Given the description of an element on the screen output the (x, y) to click on. 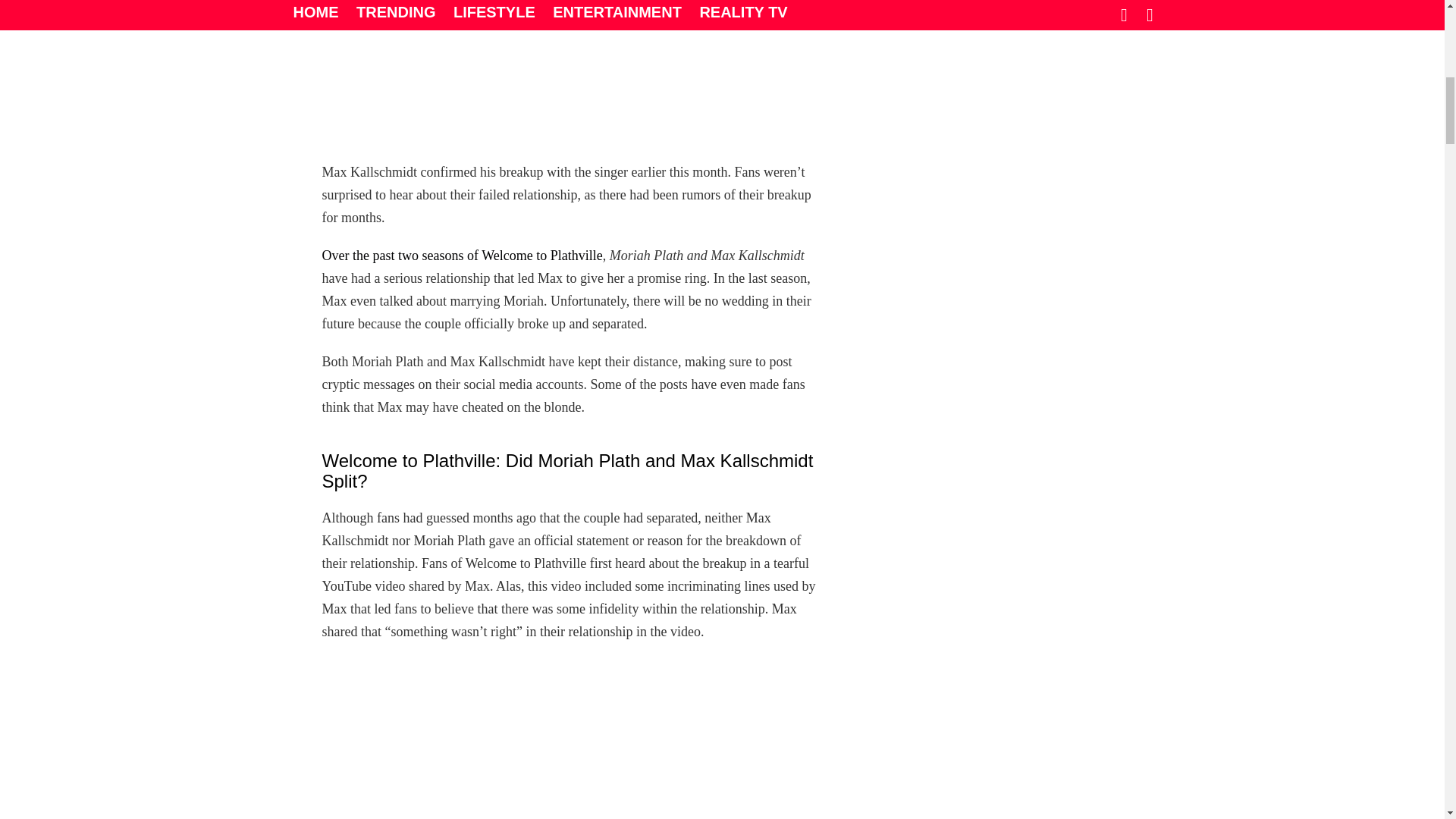
Over the past two seasons of Welcome to Plathville (461, 255)
